Given the description of an element on the screen output the (x, y) to click on. 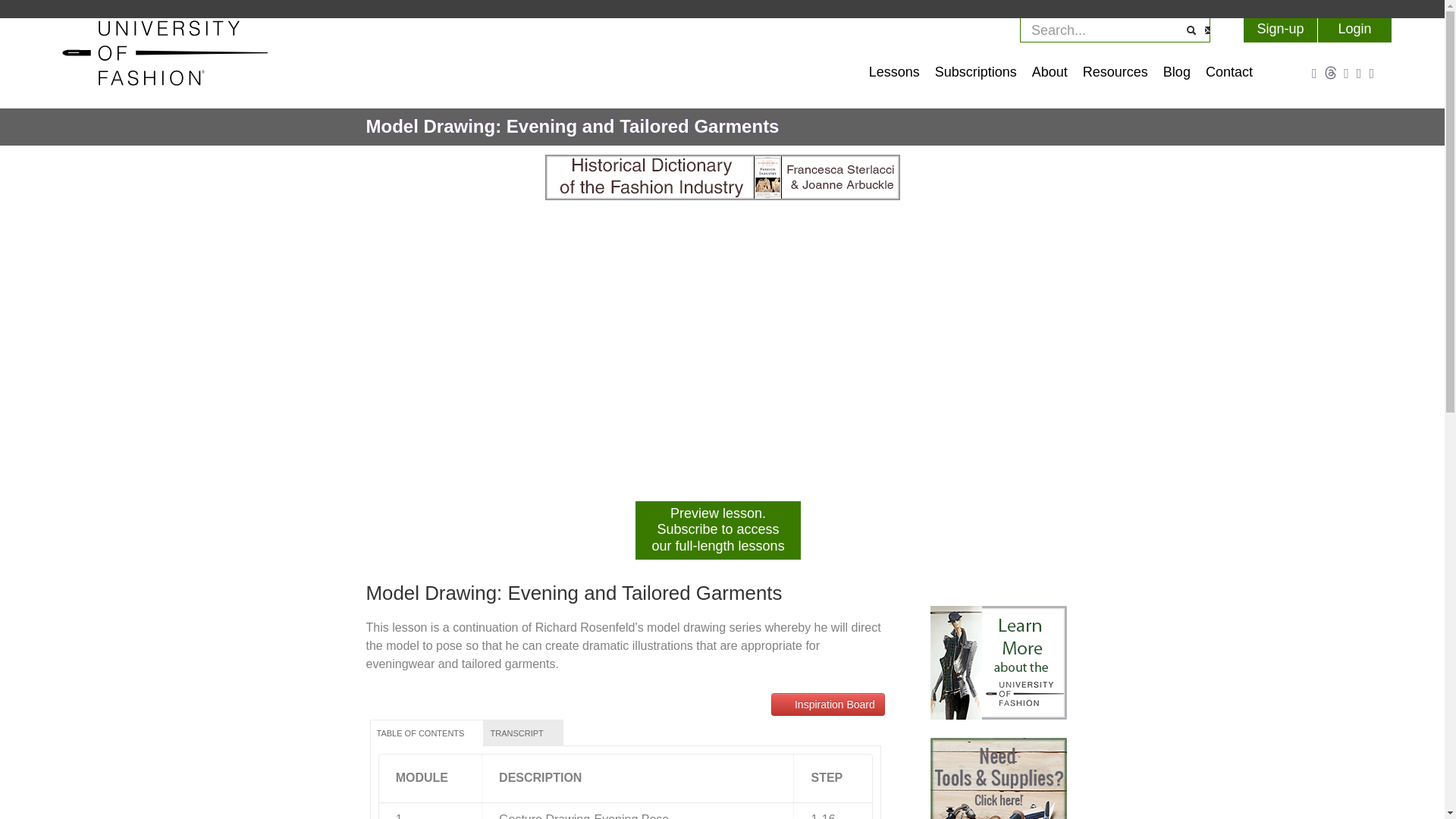
Sign-up (1280, 30)
Lessons (894, 76)
Login (1354, 30)
Resources (1115, 76)
Subscriptions (976, 76)
Search... (1103, 30)
About (1050, 76)
Advertisement (998, 778)
Advertisement (998, 662)
Advertisement (721, 176)
Online Fashion Design School (166, 84)
